Given the description of an element on the screen output the (x, y) to click on. 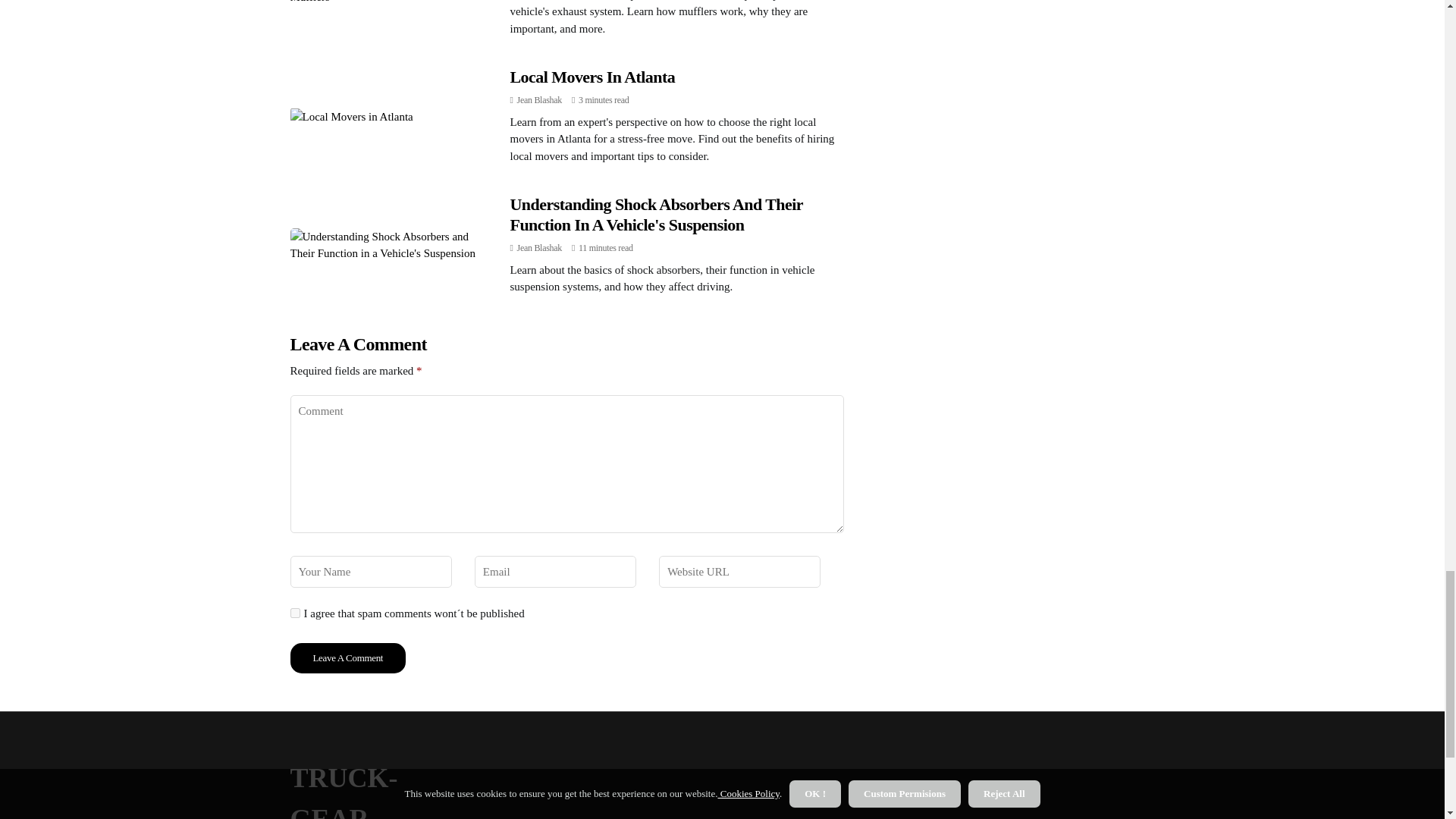
Leave a Comment (347, 657)
yes (294, 613)
Posts by Jean Blashak (539, 247)
Posts by Jean Blashak (539, 100)
